Given the description of an element on the screen output the (x, y) to click on. 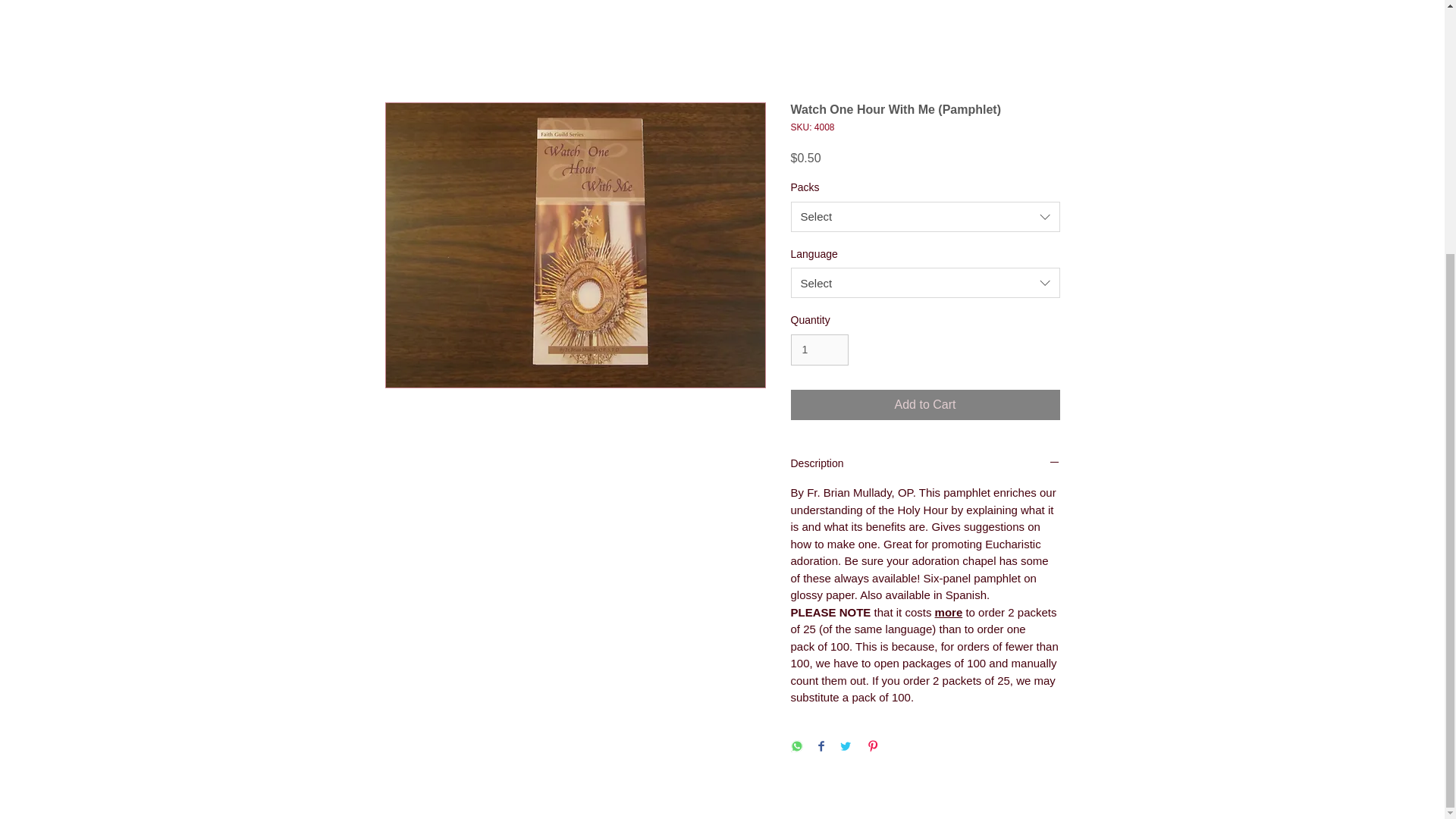
1 (818, 349)
